Given the description of an element on the screen output the (x, y) to click on. 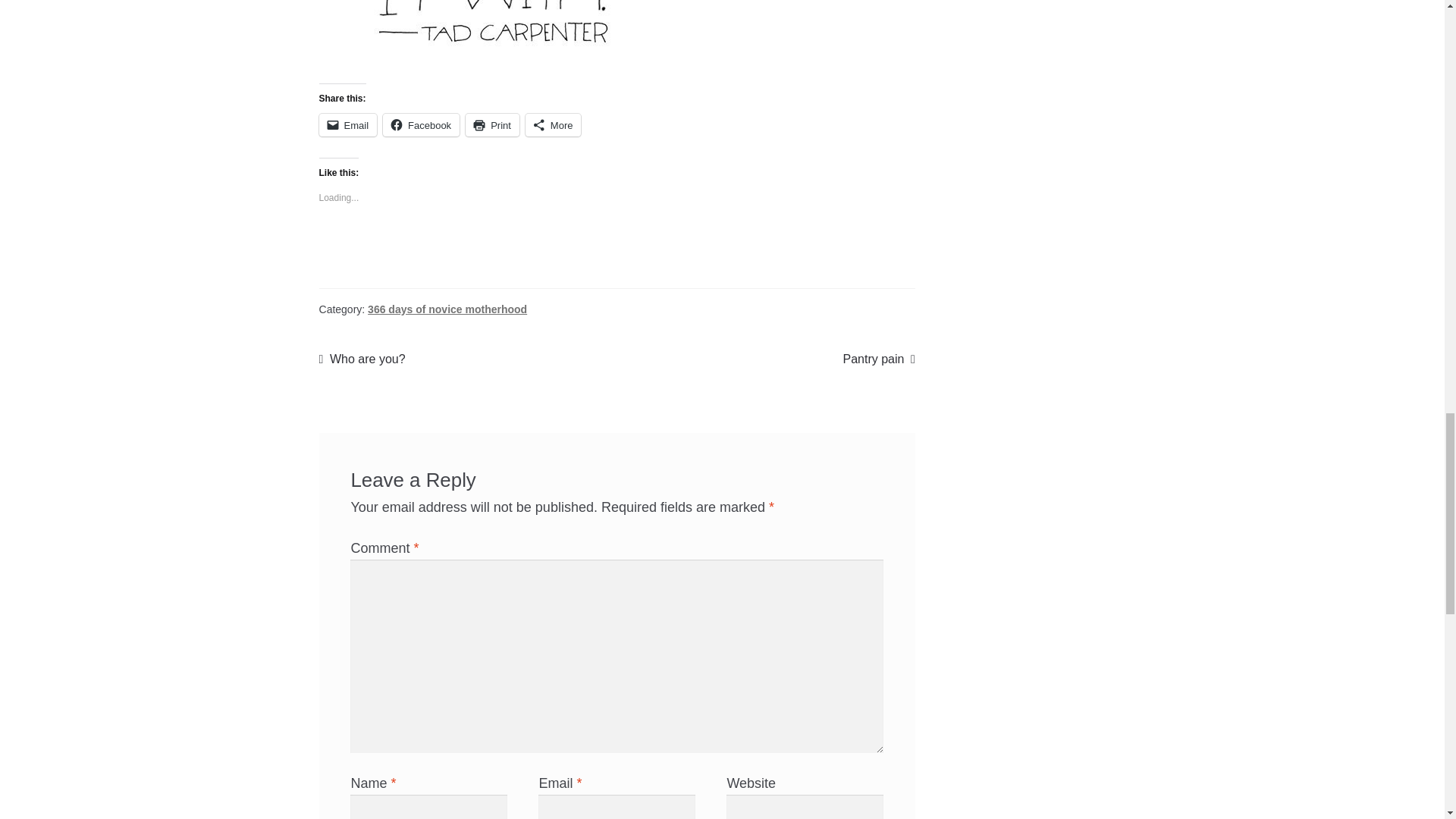
Click to print (492, 124)
Click to email a link to a friend (347, 124)
Click to share on Facebook (421, 124)
Like or Reblog (616, 250)
